Given the description of an element on the screen output the (x, y) to click on. 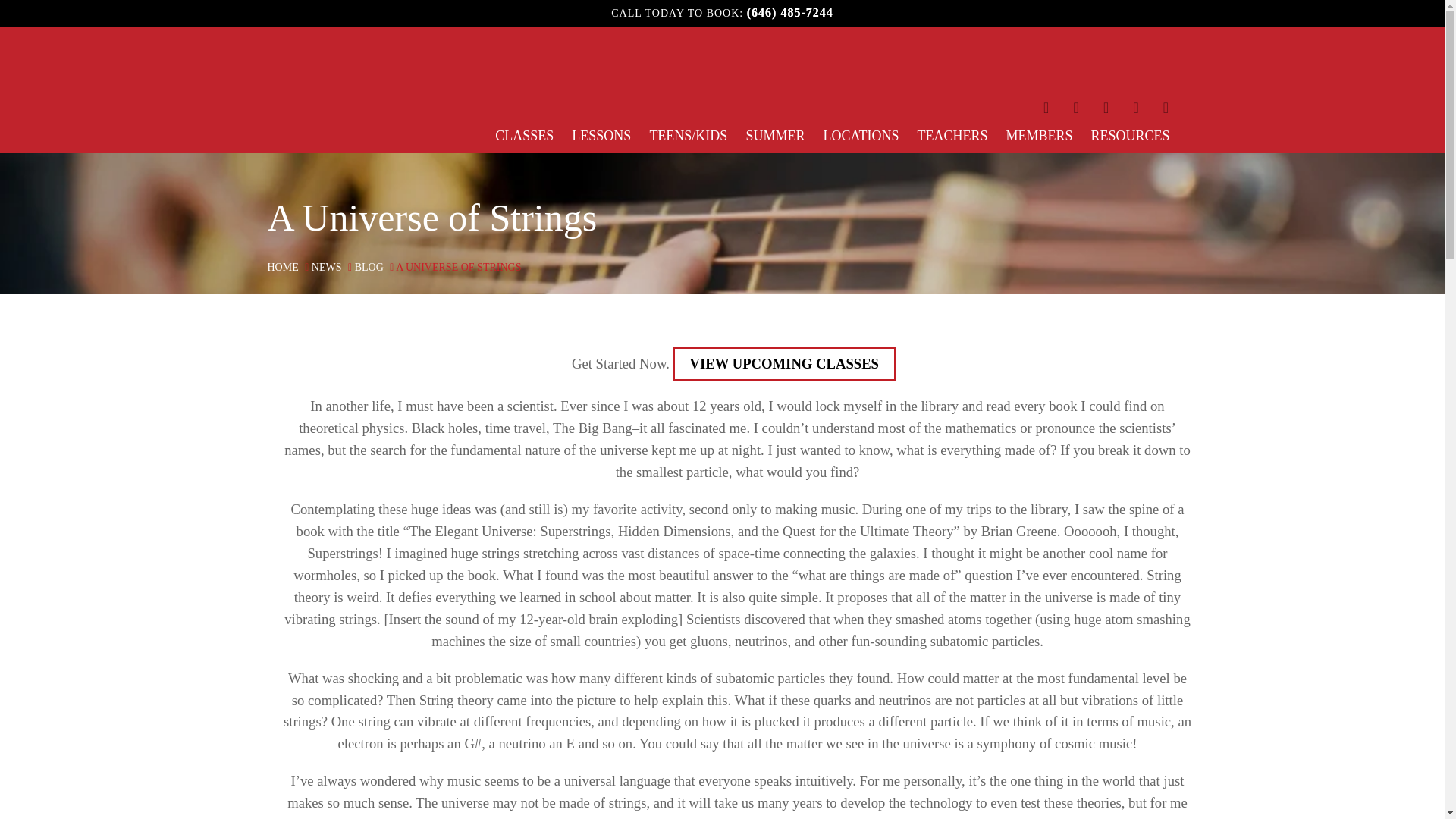
TEACHERS (951, 135)
CLASSES (523, 135)
LOCATIONS (860, 135)
LESSONS (600, 135)
SUMMER (775, 135)
